Given the description of an element on the screen output the (x, y) to click on. 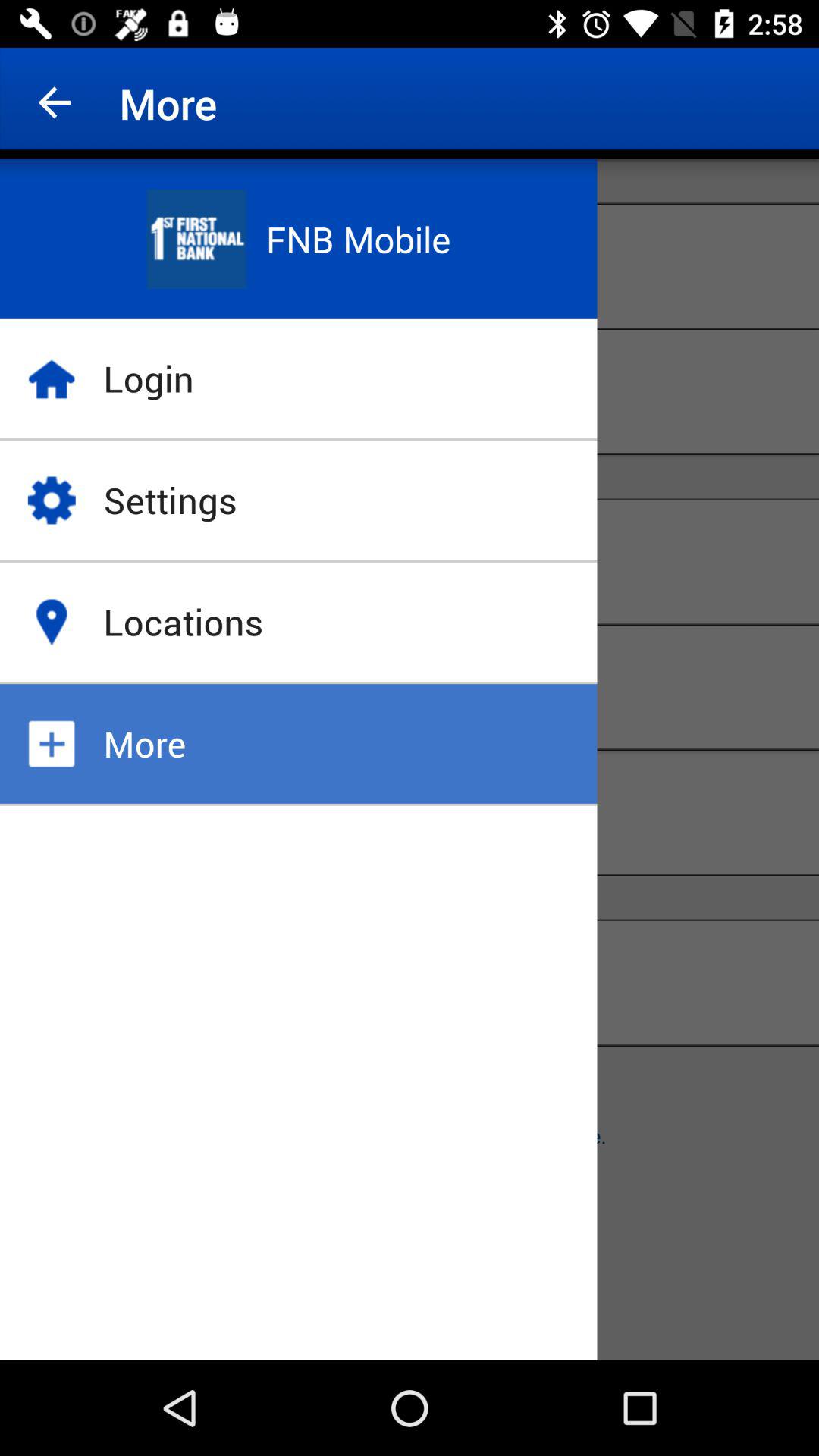
click on icon left to login (51, 378)
select the symbol left to more (51, 743)
